Given the description of an element on the screen output the (x, y) to click on. 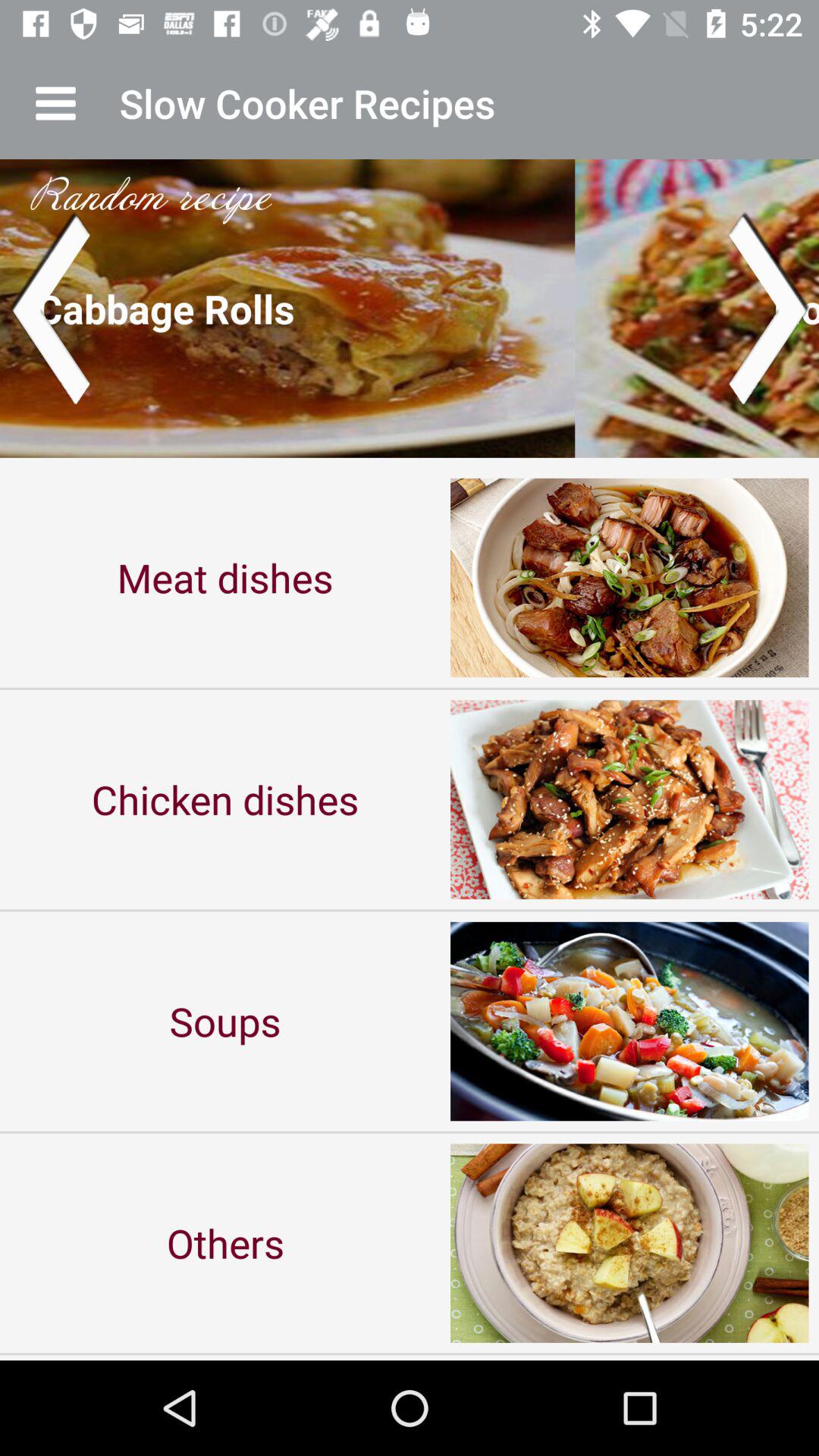
go to previous (49, 308)
